Given the description of an element on the screen output the (x, y) to click on. 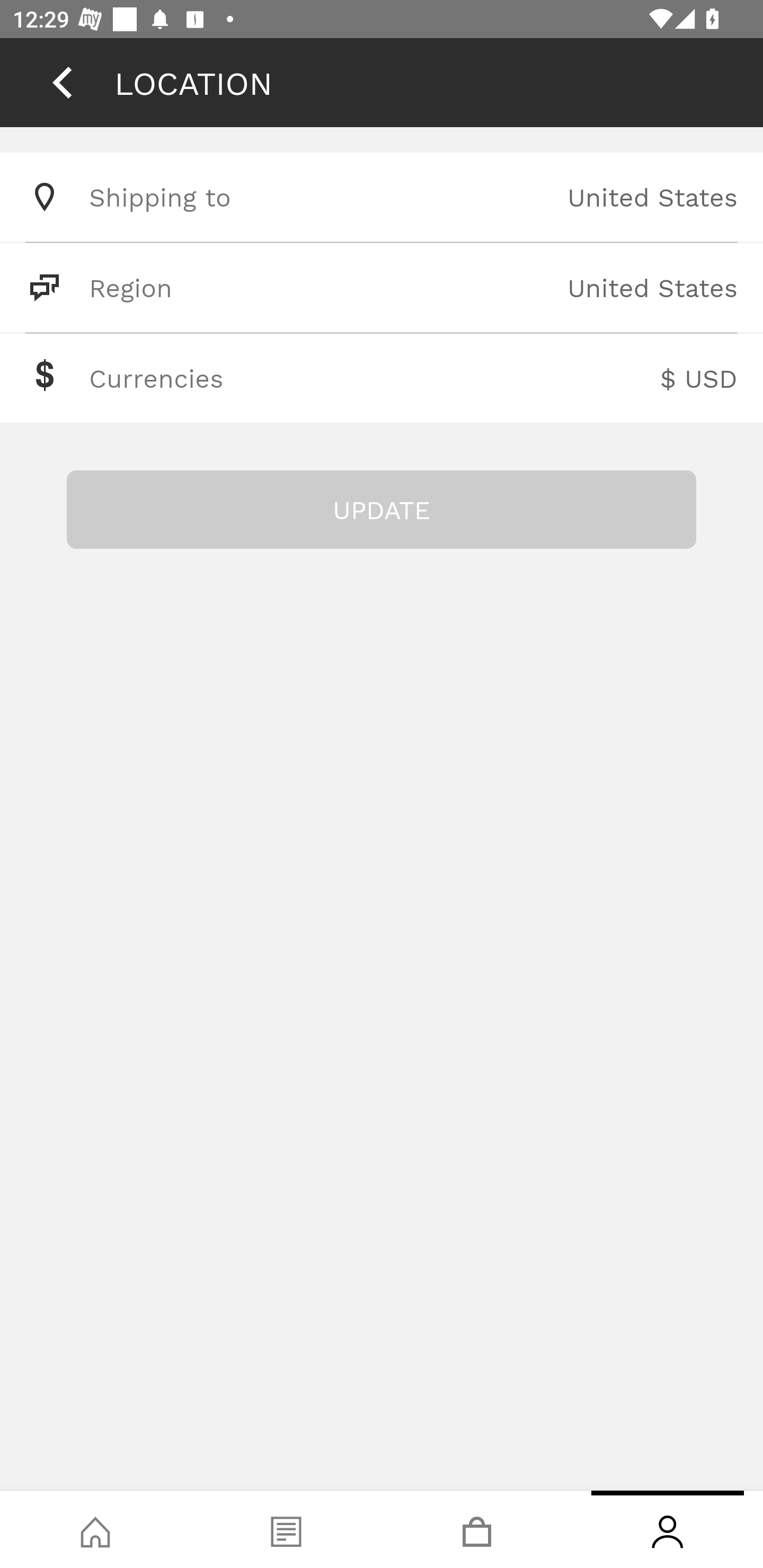
ACCOUNT, back (61, 82)
Shipping to Shipping to United States (381, 196)
Region Region United States (381, 287)
Currencies Currencies $ USD (381, 378)
Update UPDATE (381, 509)
Shop, tab, 1 of 4 (95, 1529)
Blog, tab, 2 of 4 (285, 1529)
Basket, tab, 3 of 4 (476, 1529)
Account, tab, 4 of 4 (667, 1529)
